Given the description of an element on the screen output the (x, y) to click on. 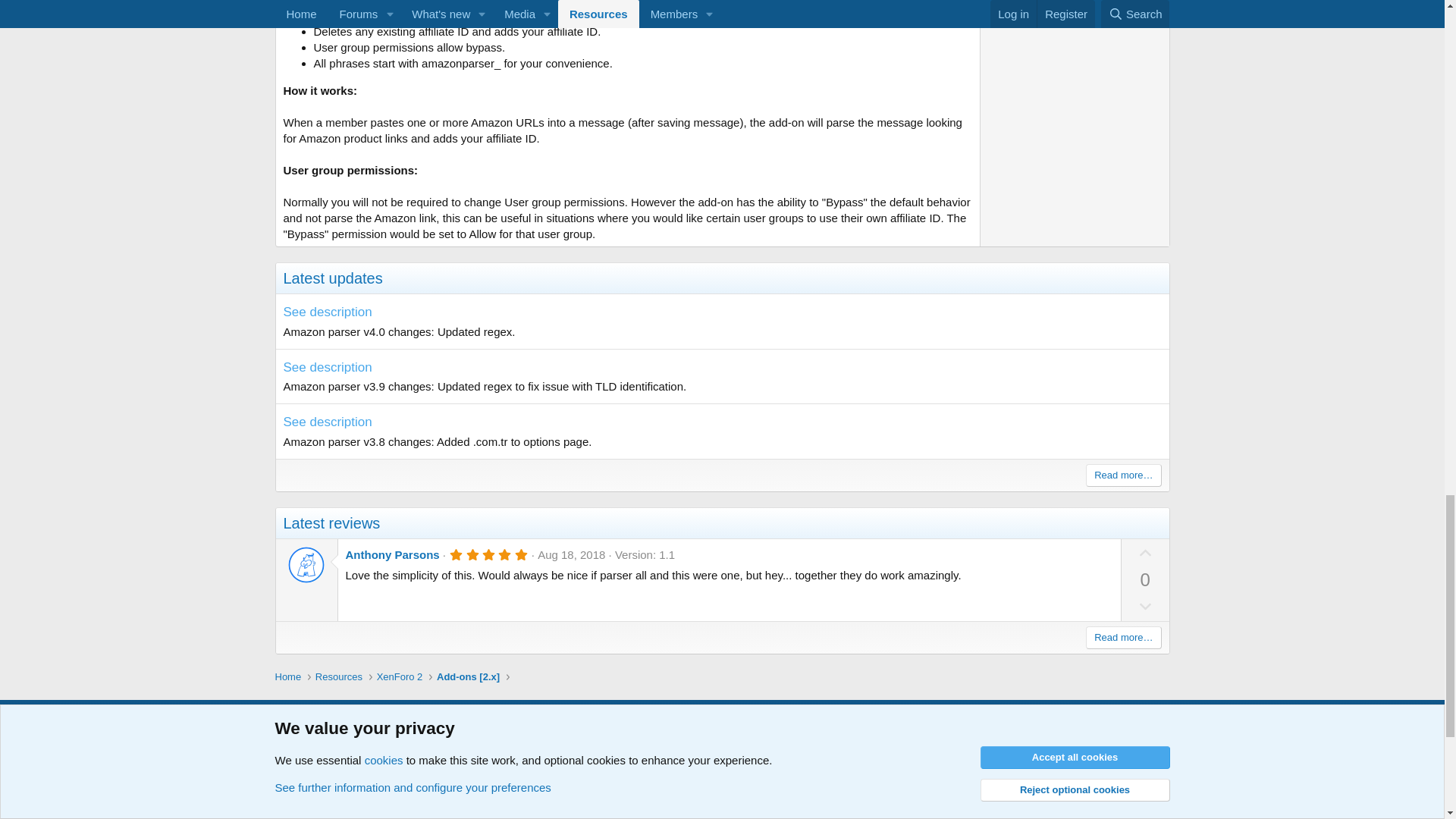
RSS (1161, 726)
Style variation (342, 725)
Aug 18, 2018 at 1:48 AM (571, 554)
